Given the description of an element on the screen output the (x, y) to click on. 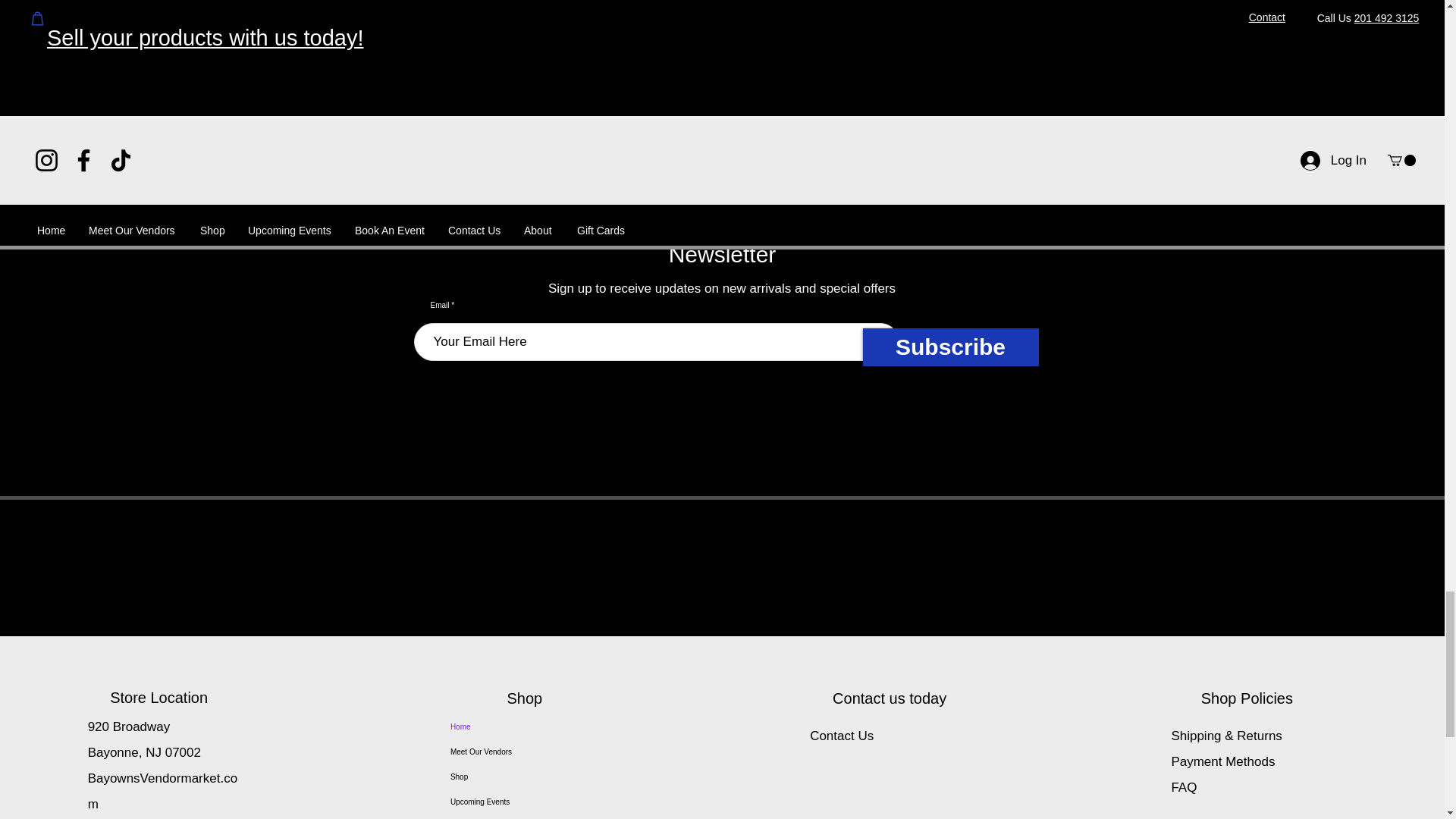
Shop (532, 776)
Meet Our Vendors (532, 751)
Book An Event (532, 816)
Contact (902, 106)
Subscribe (951, 347)
Upcoming Events (532, 801)
Home (532, 726)
